Given the description of an element on the screen output the (x, y) to click on. 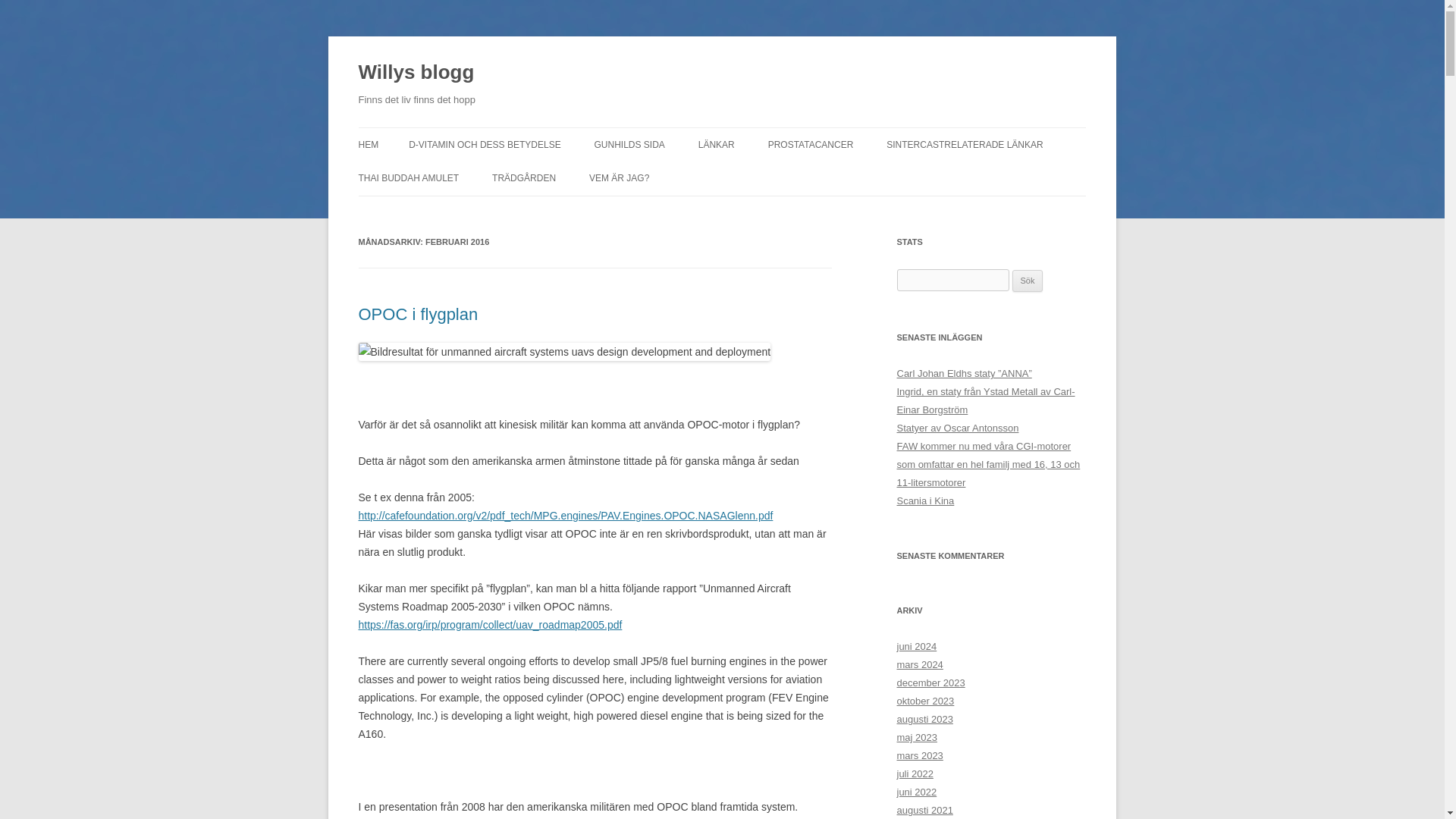
OPOC i flygplan (417, 313)
D-VITAMIN OCH DESS BETYDELSE (484, 144)
THAI BUDDAH AMULET (408, 177)
Willys blogg (416, 72)
PROSTATACANCER (810, 144)
GUNHILDS SIDA (629, 144)
